Given the description of an element on the screen output the (x, y) to click on. 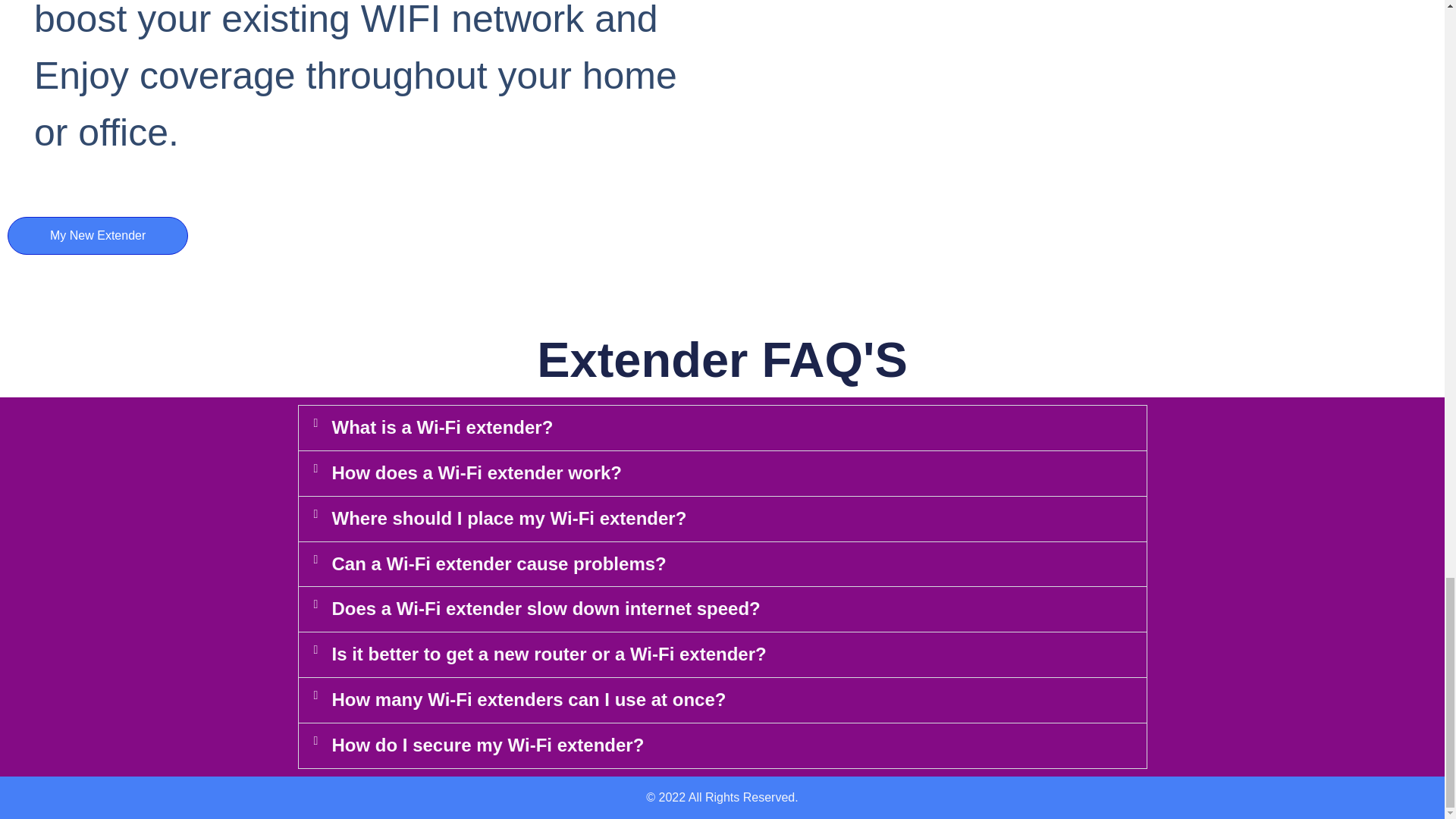
Does a Wi-Fi extender slow down internet speed? (545, 608)
How does a Wi-Fi extender work? (477, 472)
My New Extender (97, 235)
Is it better to get a new router or a Wi-Fi extender? (549, 653)
What is a Wi-Fi extender? (442, 426)
How do I secure my Wi-Fi extender? (488, 744)
How many Wi-Fi extenders can I use at once? (528, 699)
Can a Wi-Fi extender cause problems? (498, 563)
Where should I place my Wi-Fi extender? (509, 517)
